Given the description of an element on the screen output the (x, y) to click on. 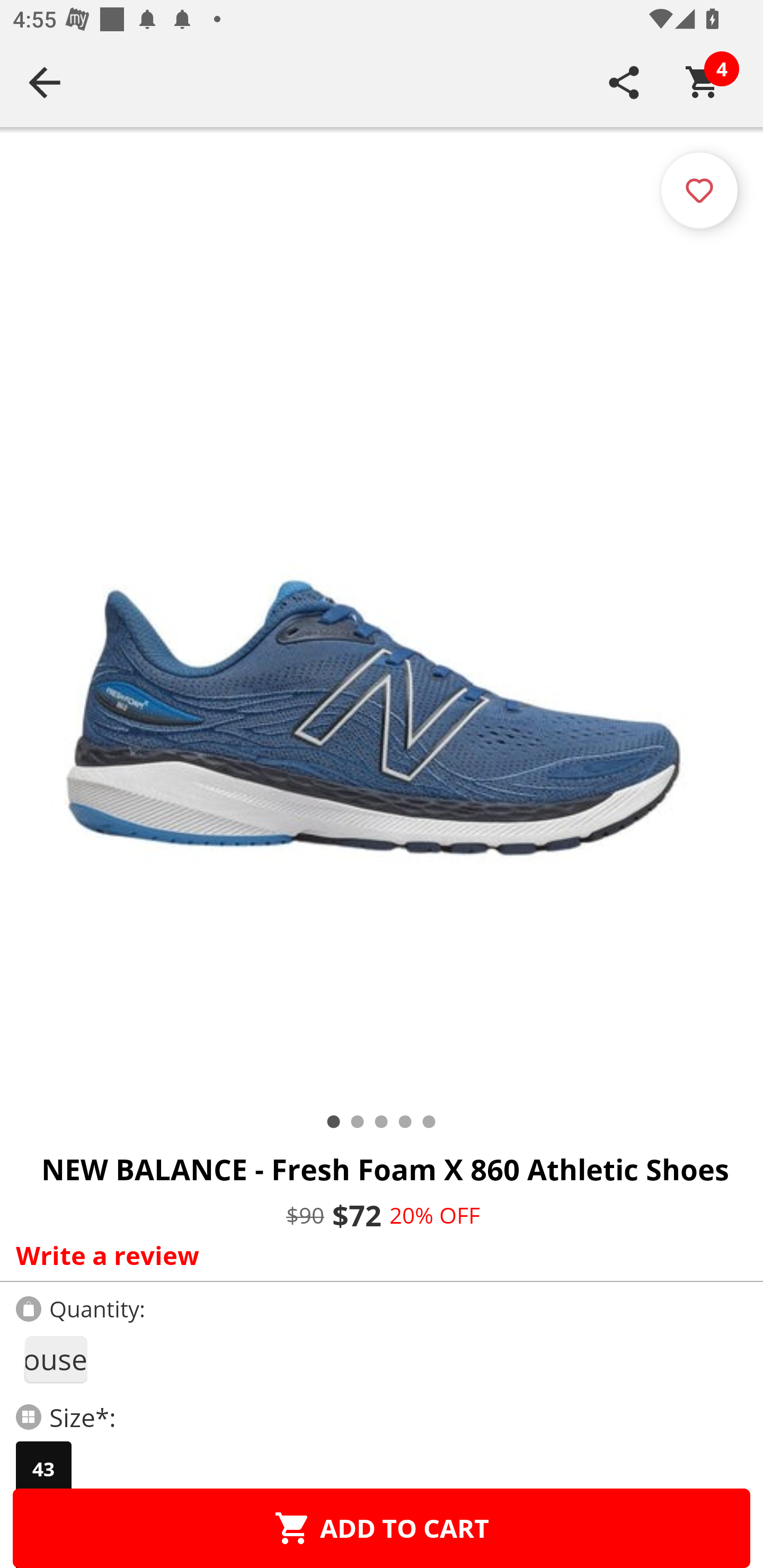
Navigate up (44, 82)
SHARE (623, 82)
Cart (703, 81)
Write a review (377, 1255)
1penmouse (55, 1358)
43 (43, 1468)
ADD TO CART (381, 1528)
